Given the description of an element on the screen output the (x, y) to click on. 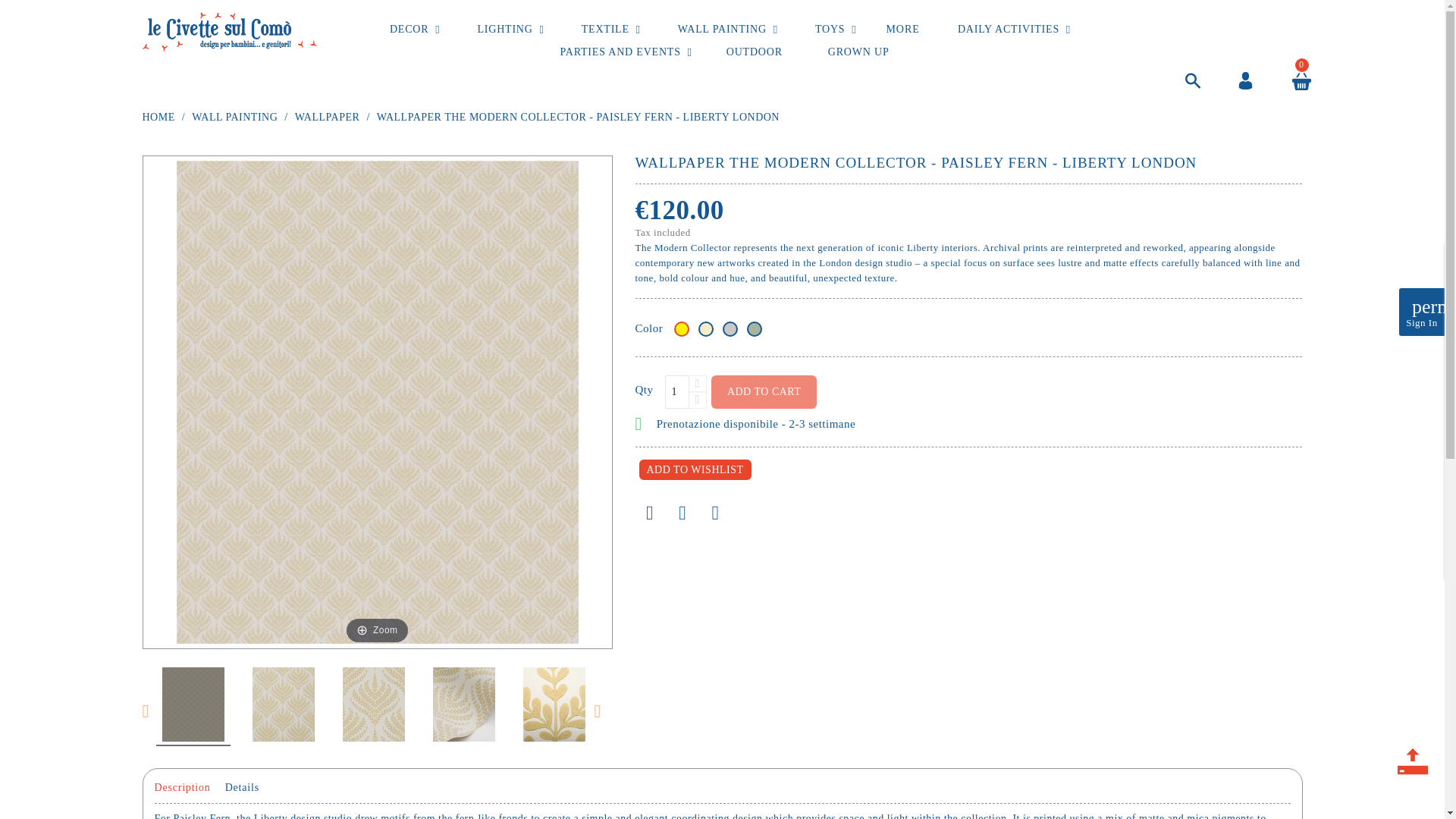
TEXTILE (604, 29)
Share (649, 512)
LIGHTING (504, 29)
TOYS (830, 29)
Tweet (682, 512)
WALL PAINTING (722, 29)
DECOR (409, 29)
Pinterest (715, 512)
Add to Wishlist (695, 469)
MORE (901, 29)
